Given the description of an element on the screen output the (x, y) to click on. 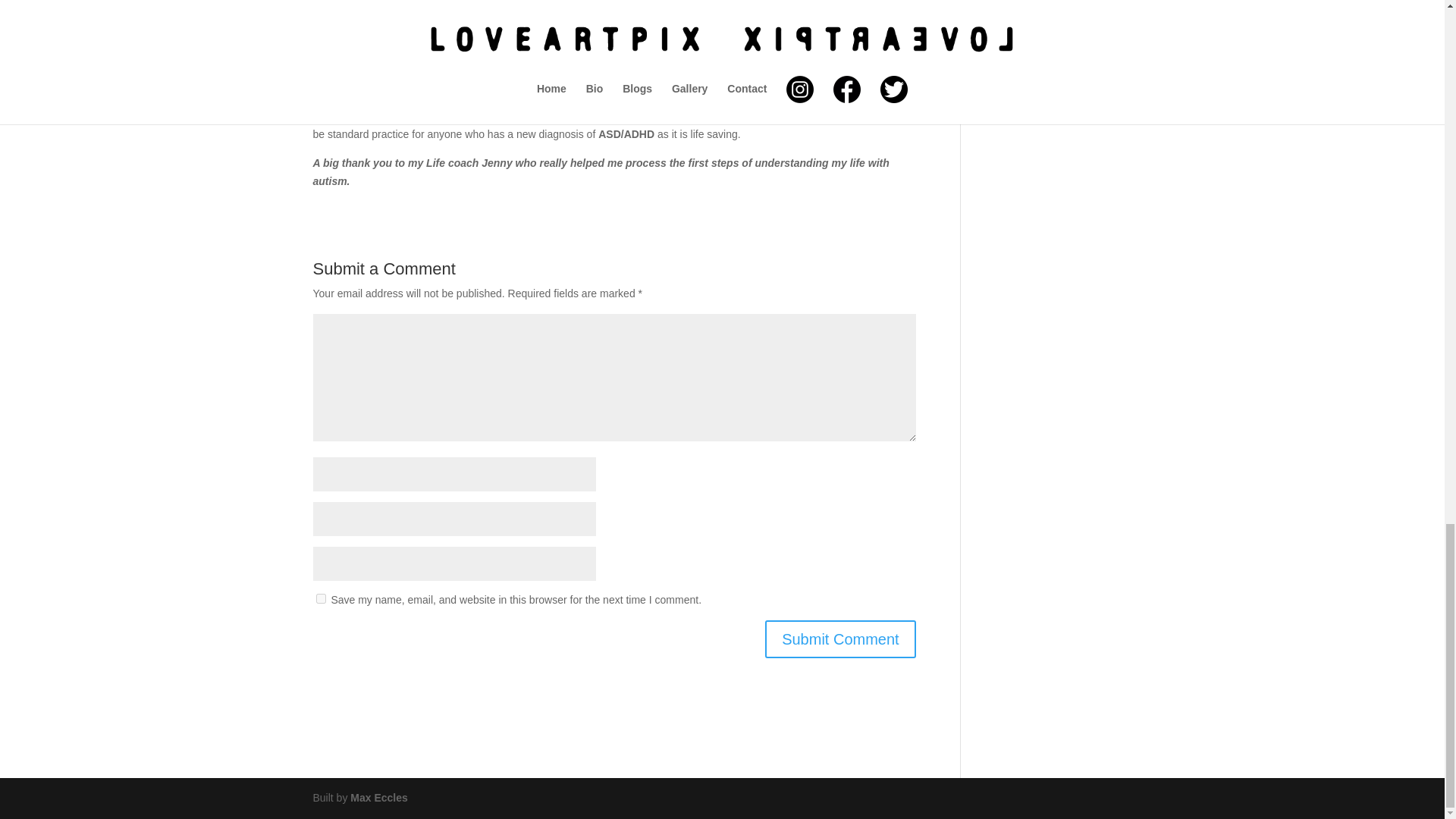
Submit Comment (840, 638)
Submit Comment (840, 638)
yes (319, 598)
